Given the description of an element on the screen output the (x, y) to click on. 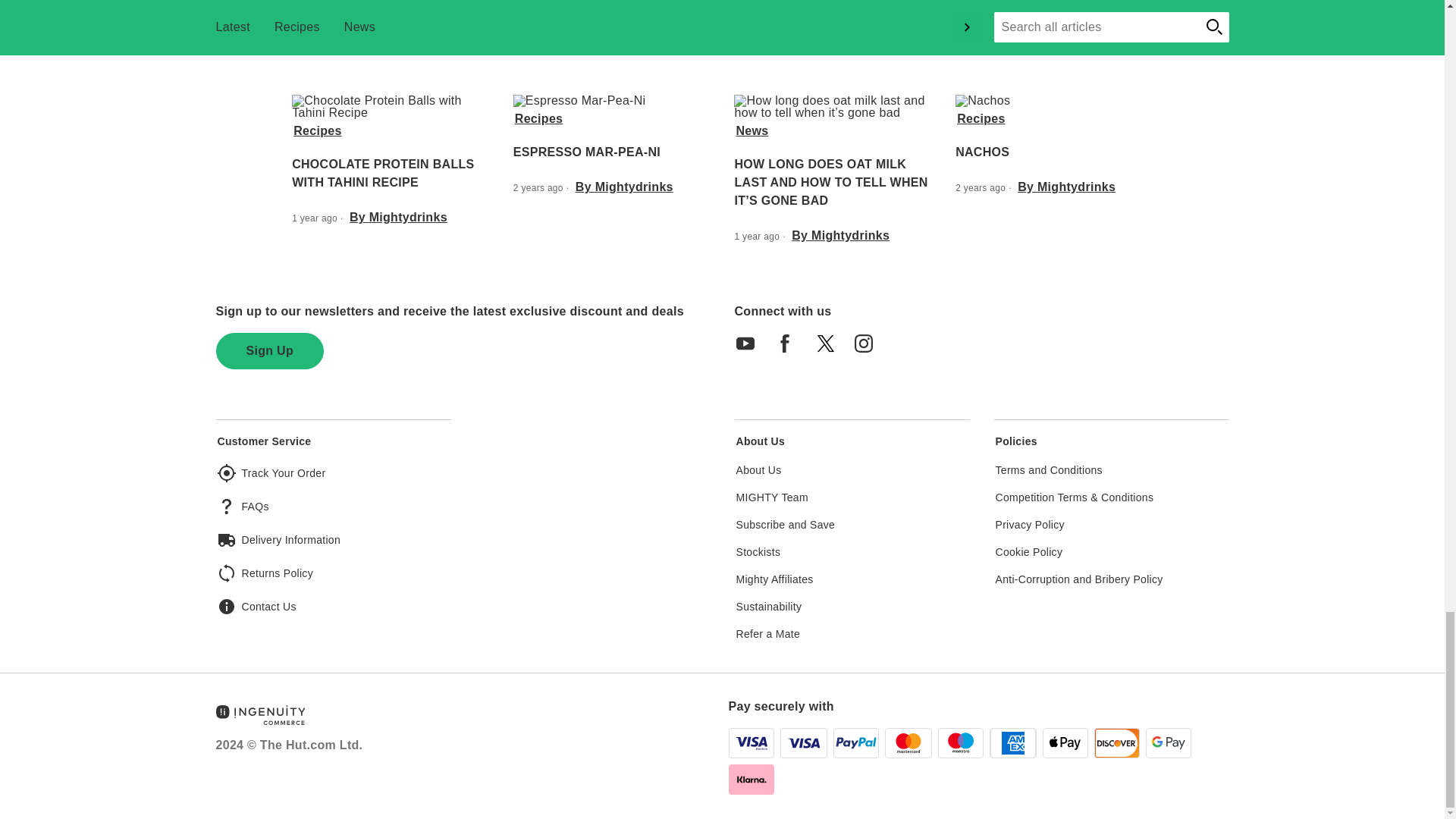
facebook (789, 349)
instagram (868, 349)
youtube (750, 349)
twitter (828, 349)
